Given the description of an element on the screen output the (x, y) to click on. 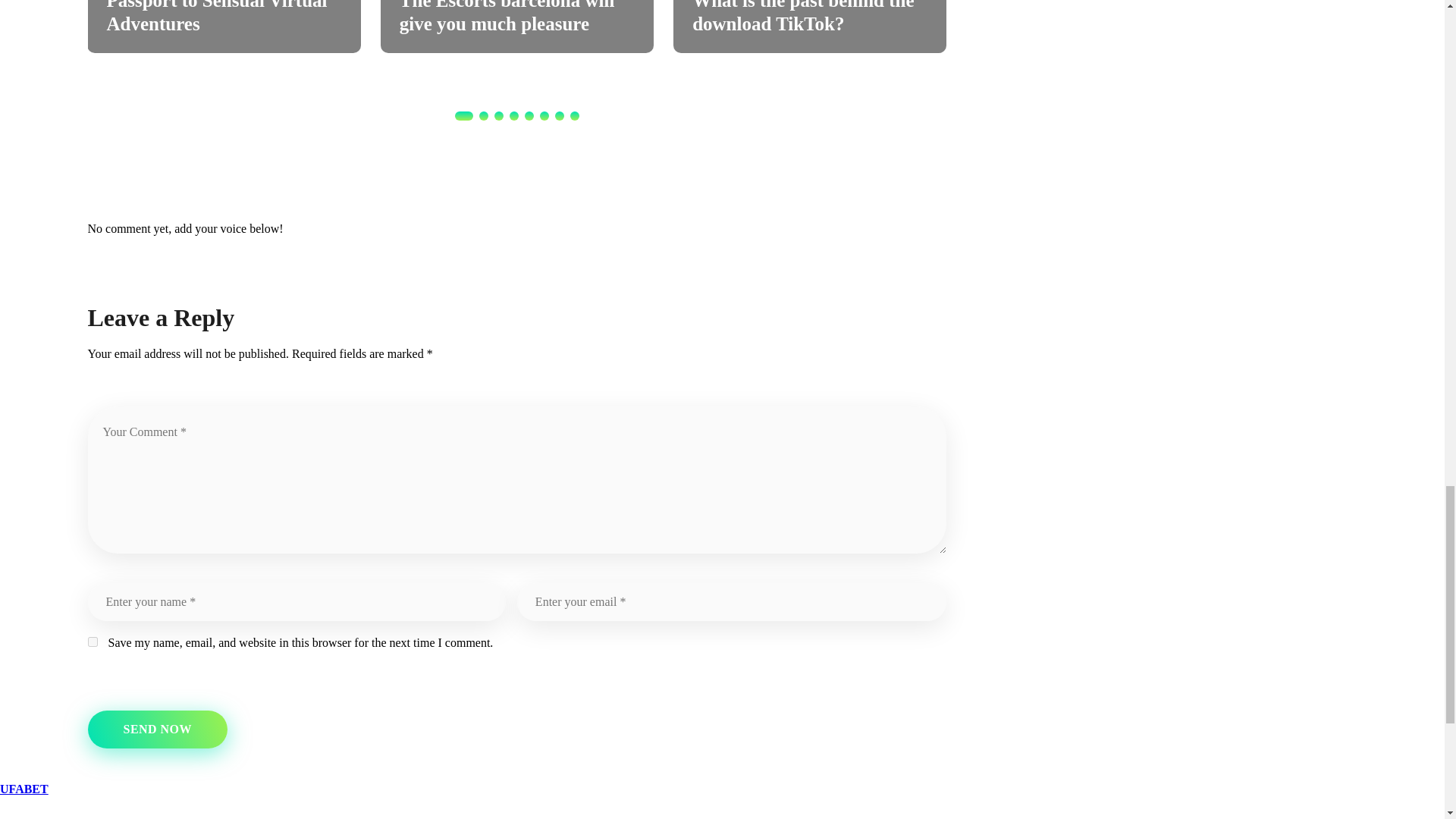
yes (92, 642)
